Given the description of an element on the screen output the (x, y) to click on. 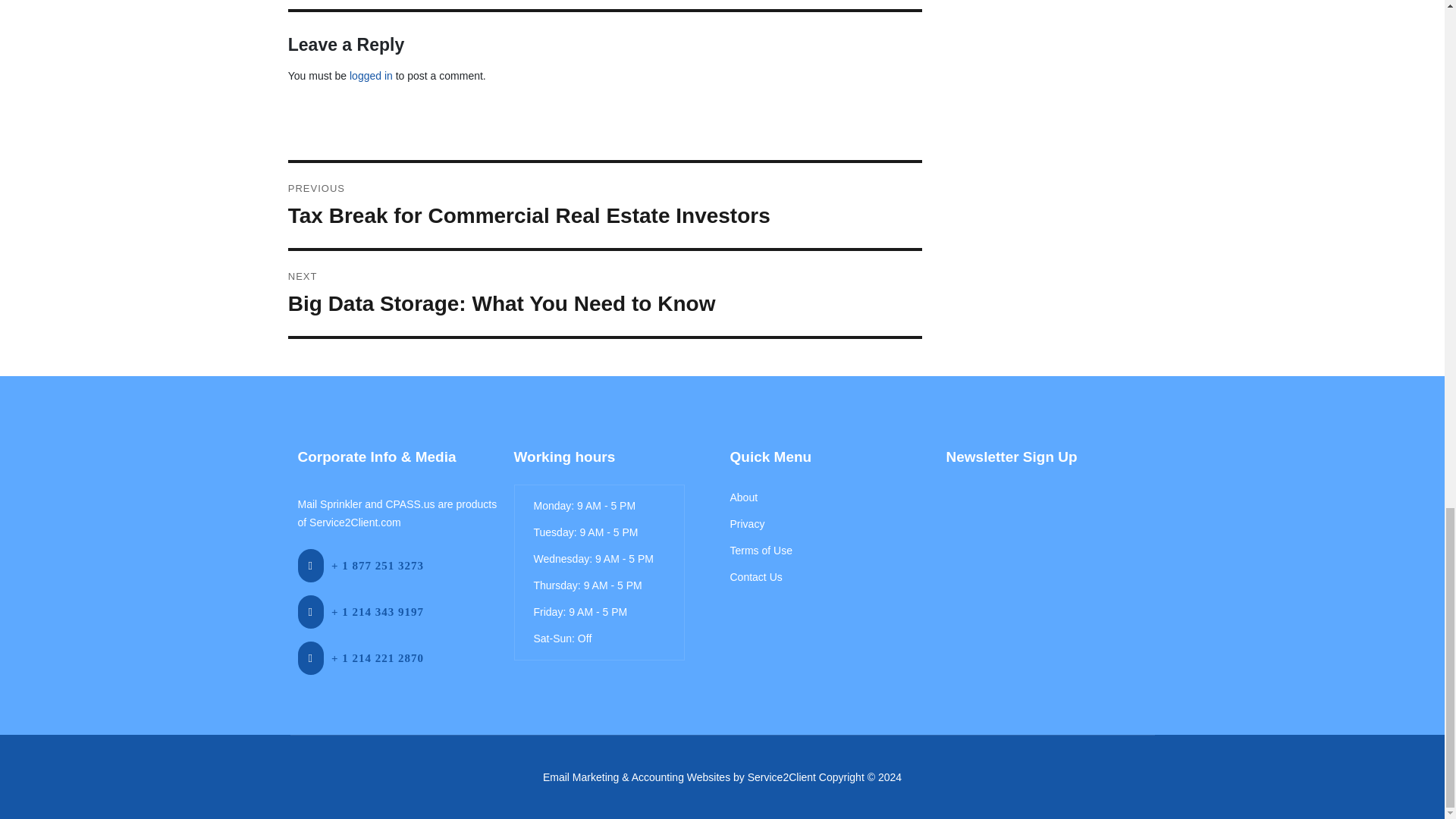
Accountant Websites (636, 776)
CPA Wordpress themes Marketplace (781, 776)
